Given the description of an element on the screen output the (x, y) to click on. 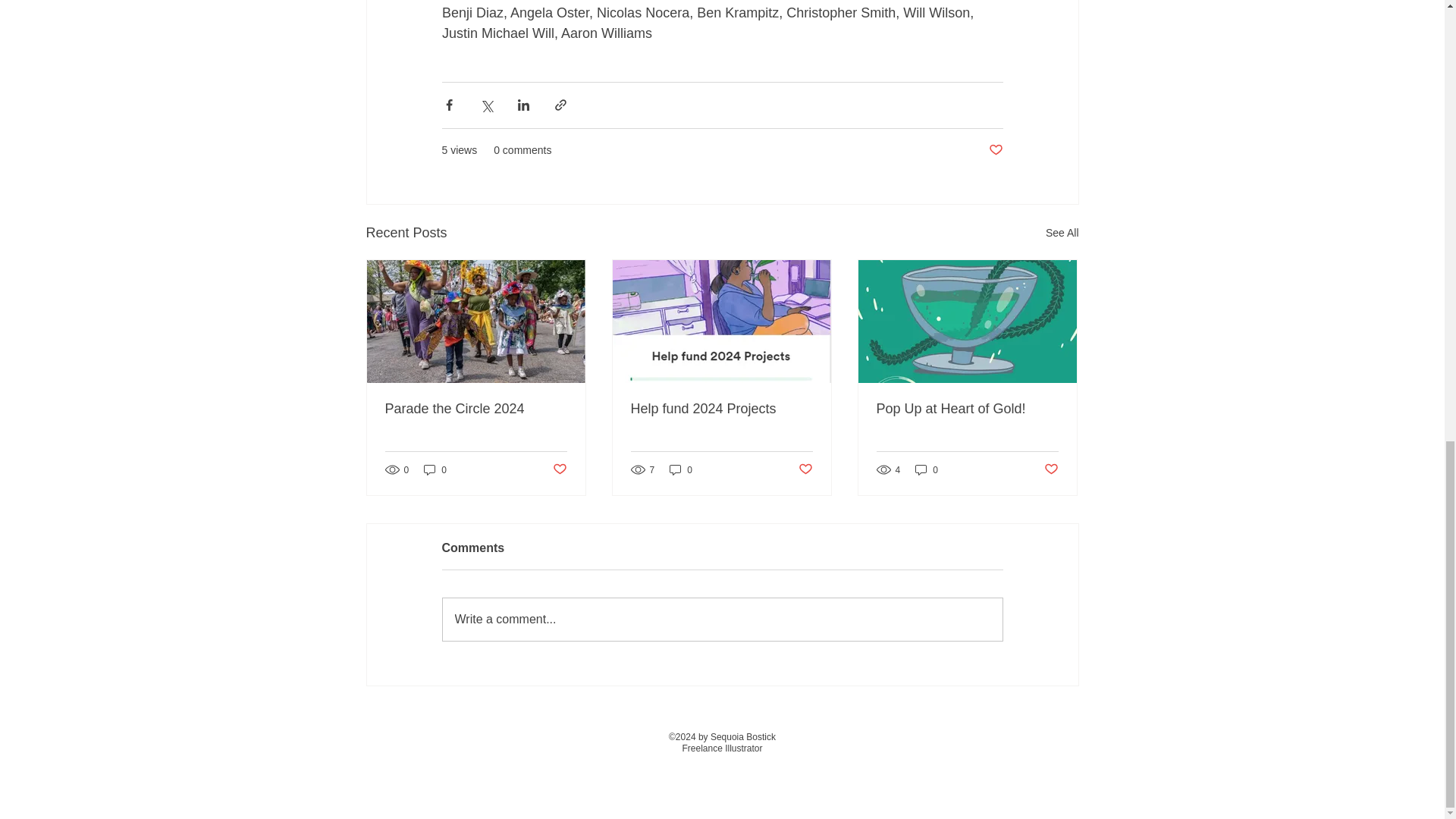
Post not marked as liked (558, 469)
Parade the Circle 2024 (476, 408)
Post not marked as liked (995, 150)
See All (1061, 232)
0 (435, 469)
